Given the description of an element on the screen output the (x, y) to click on. 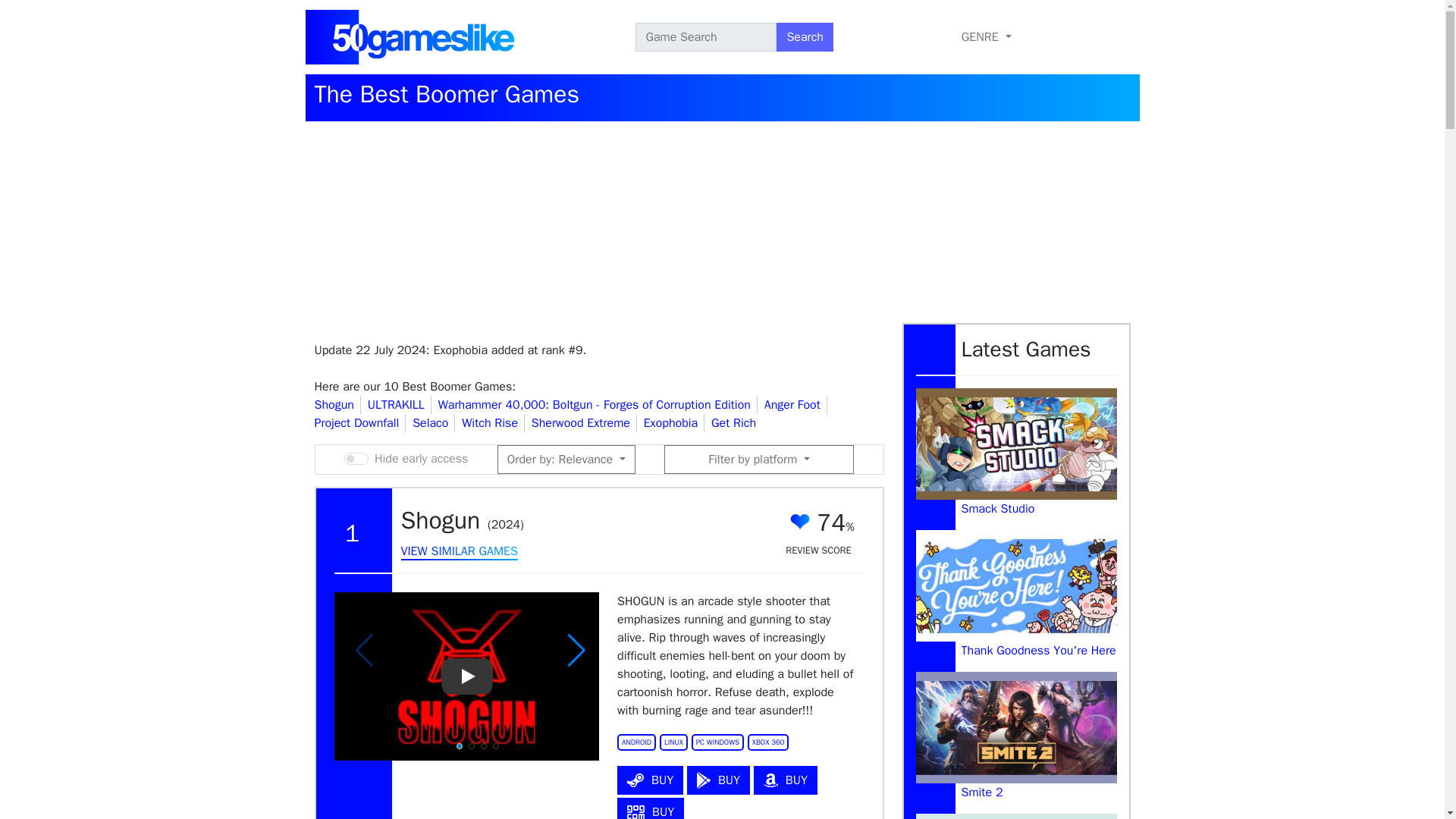
Search (804, 36)
GENRE (986, 37)
More information about Shogun on Amazon (785, 779)
More information about Shogun on GOG.com (650, 808)
Games likes Shogun on 50gameslike.com (458, 551)
More information about Shogun on Google play (718, 779)
on (355, 458)
More information about Shogun on Steam (649, 779)
